Given the description of an element on the screen output the (x, y) to click on. 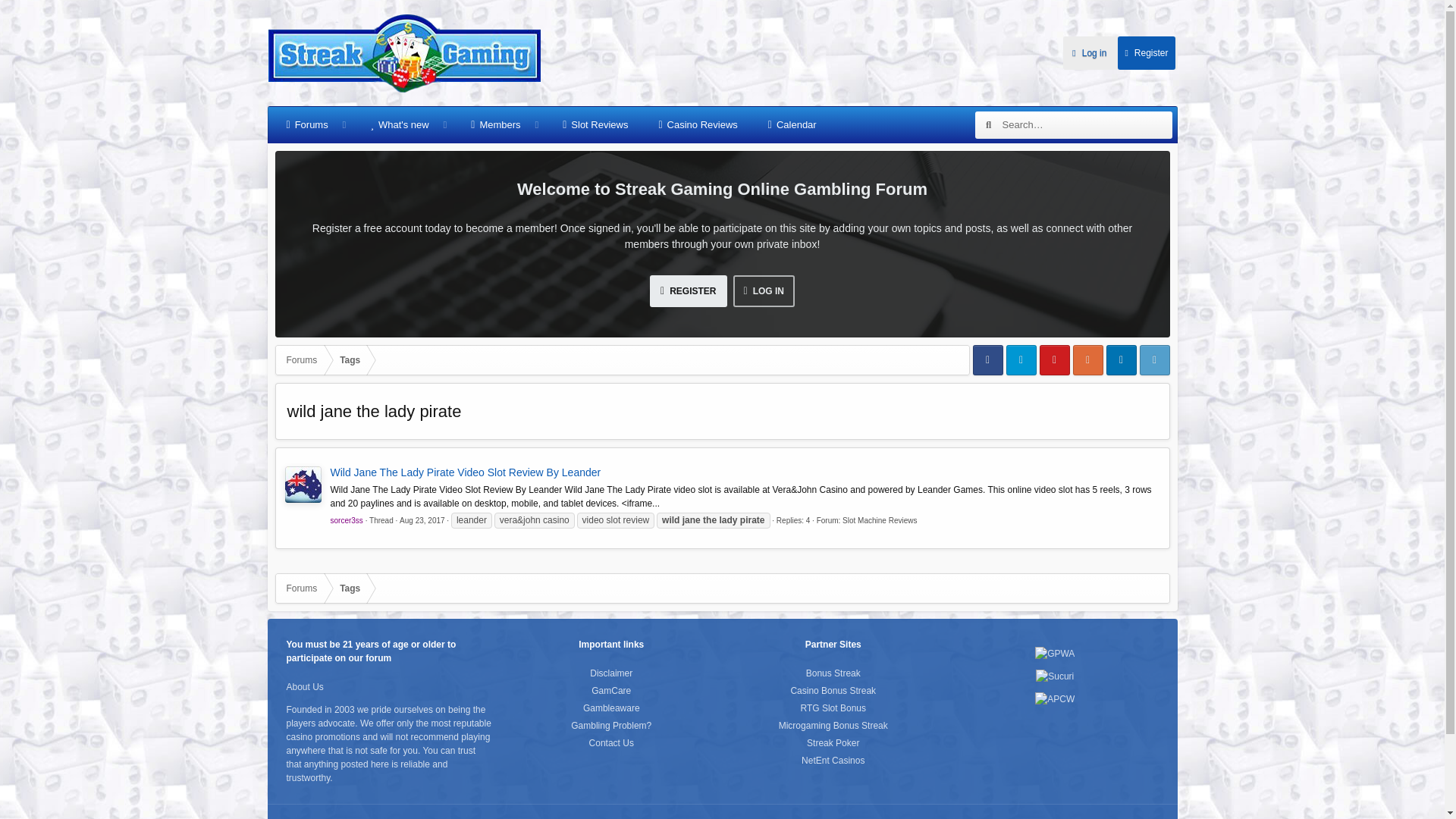
Register (1145, 52)
Aug 23, 2017 at 6:09 AM (421, 520)
Members (495, 125)
Forums (306, 125)
Casino Reviews (697, 125)
REGISTER (687, 291)
Forums (302, 359)
Calendar (791, 125)
What's new (399, 125)
